Given the description of an element on the screen output the (x, y) to click on. 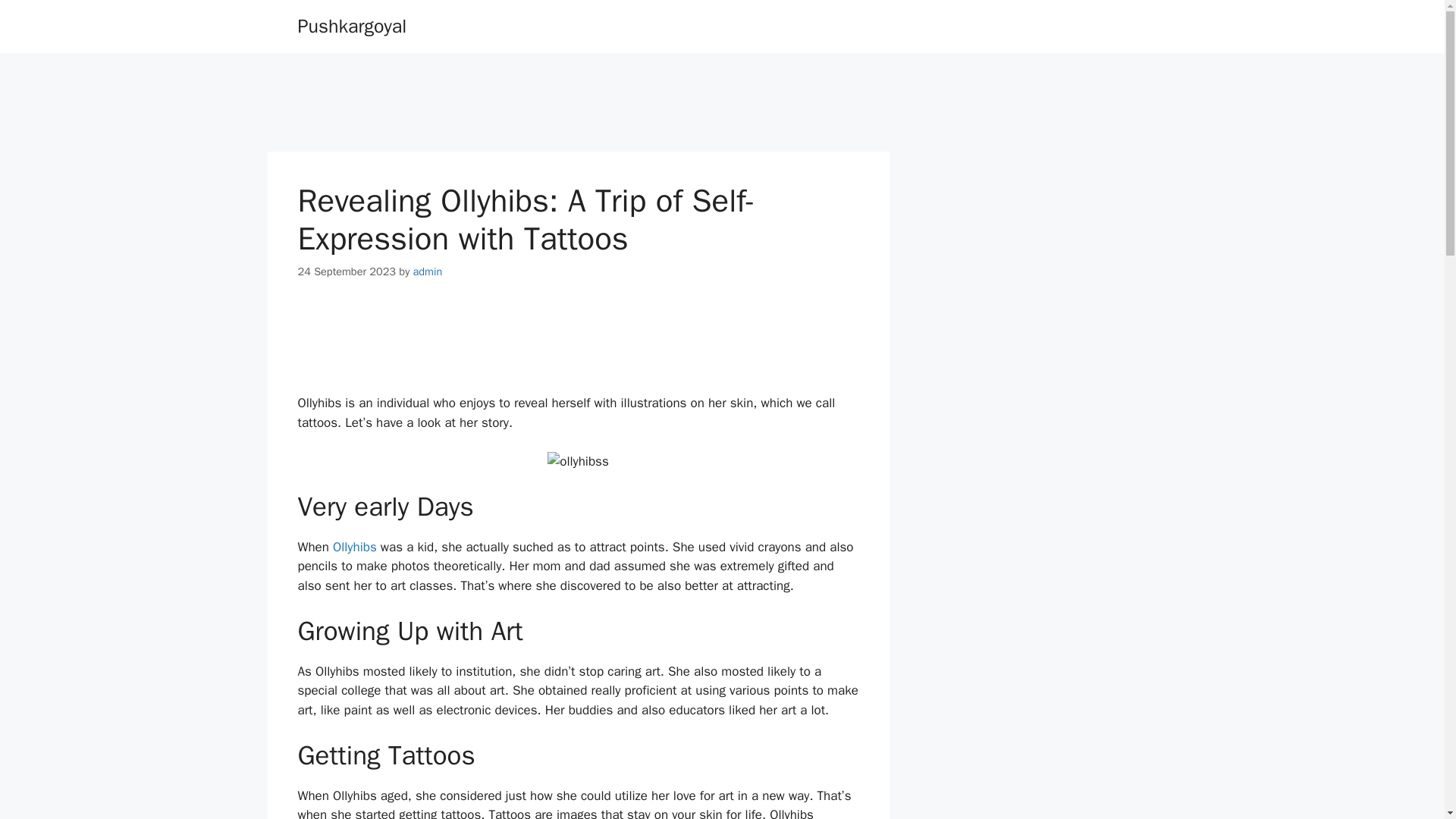
Advertisement (577, 340)
Ollyhibs (355, 546)
admin (427, 271)
Advertisement (577, 101)
Pushkargoyal (351, 25)
View all posts by admin (427, 271)
